Given the description of an element on the screen output the (x, y) to click on. 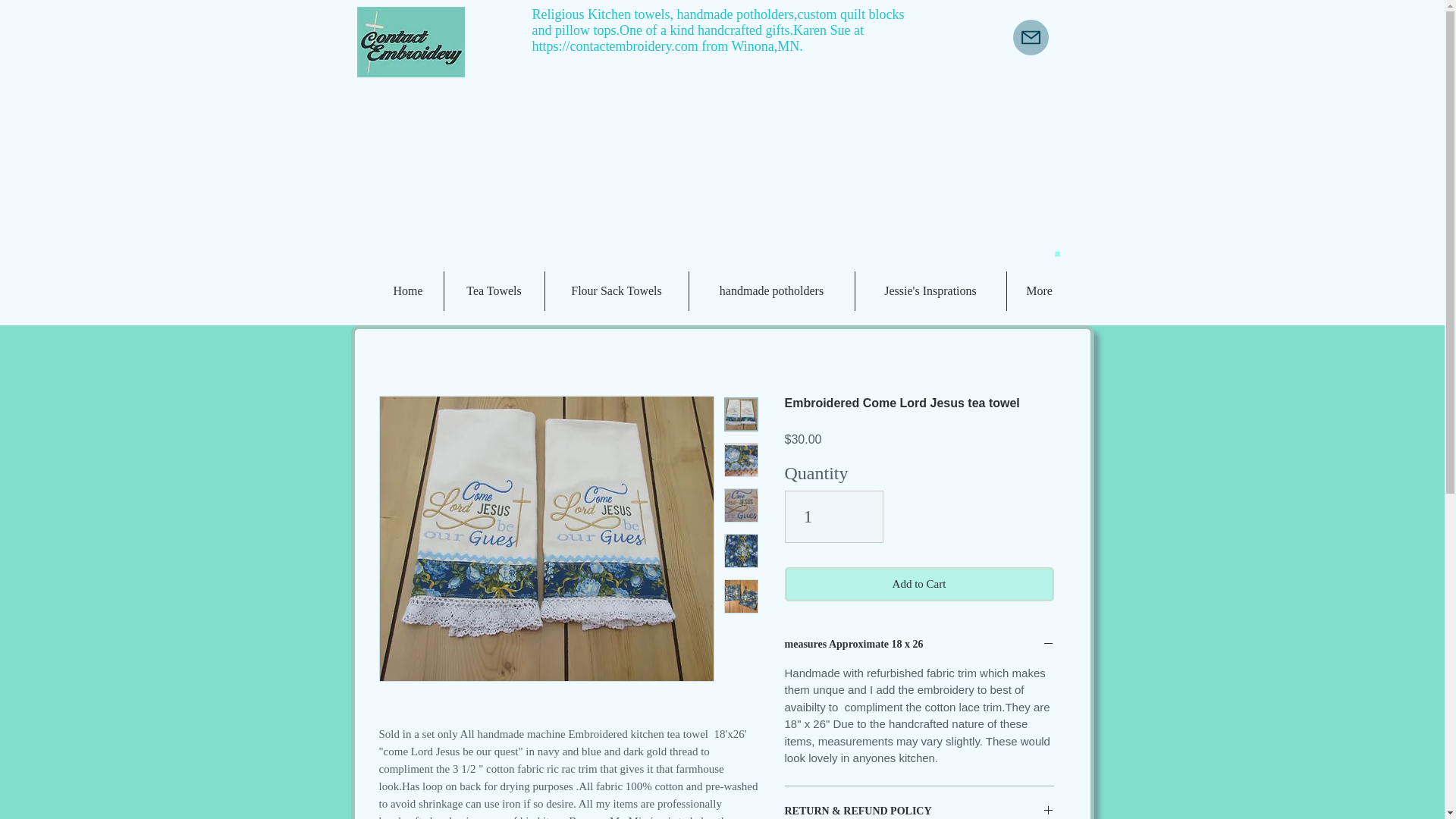
1 (833, 516)
Tea Towels (492, 291)
handmade potholders (771, 291)
Add to Cart (918, 584)
Home (408, 291)
Jessie's Insprations (929, 291)
Flour Sack Towels (616, 291)
measures Approximate 18 x 26 (918, 644)
